Given the description of an element on the screen output the (x, y) to click on. 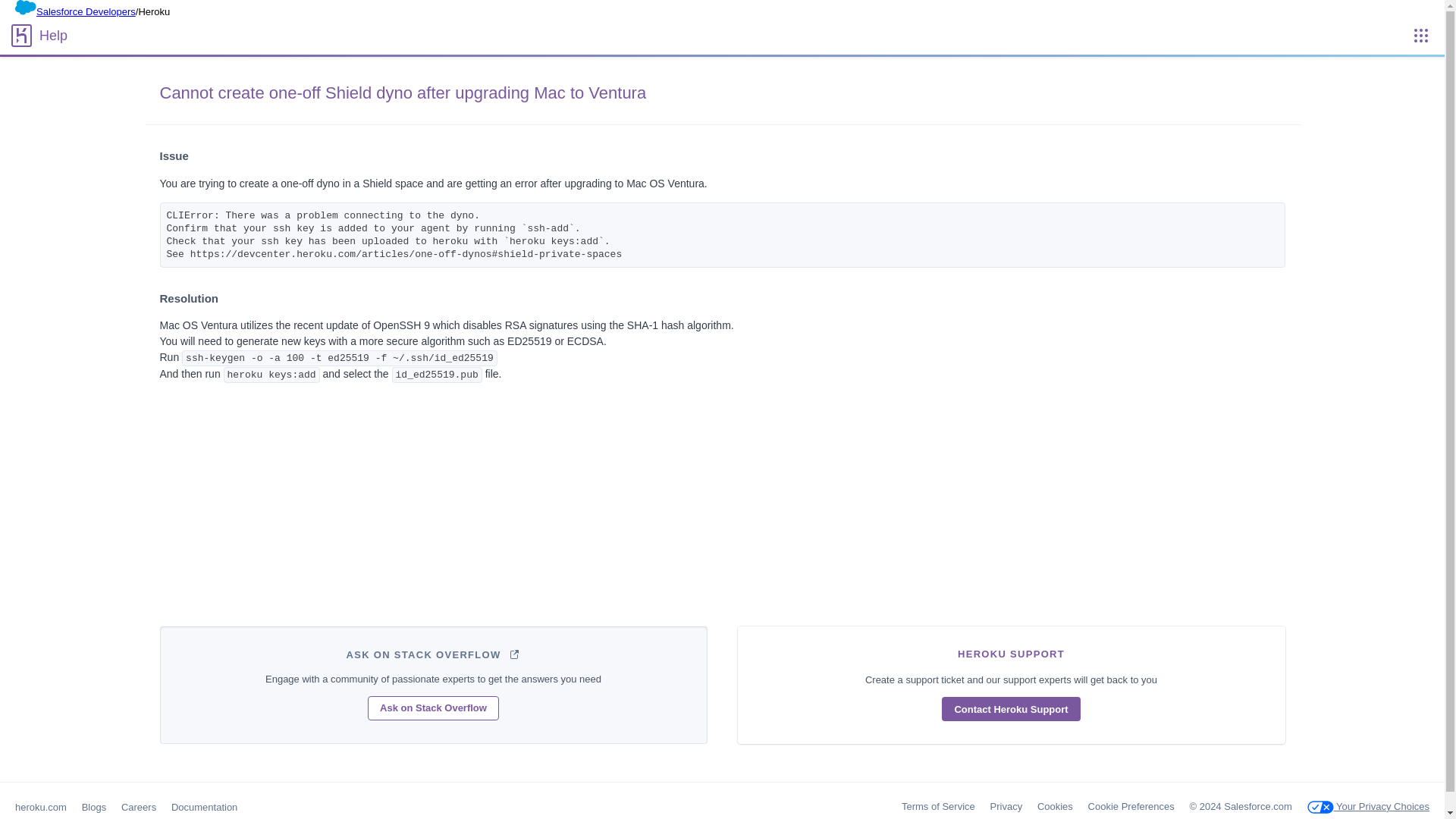
Blogs (93, 807)
Ask on Stack Overflow (433, 708)
Cookie Preferences (1130, 806)
Terms of Service (938, 806)
Privacy (1006, 806)
heroku.com (40, 807)
Cookies (1054, 806)
Contact Heroku Support (1011, 708)
Careers (137, 807)
Documentation (204, 807)
